Given the description of an element on the screen output the (x, y) to click on. 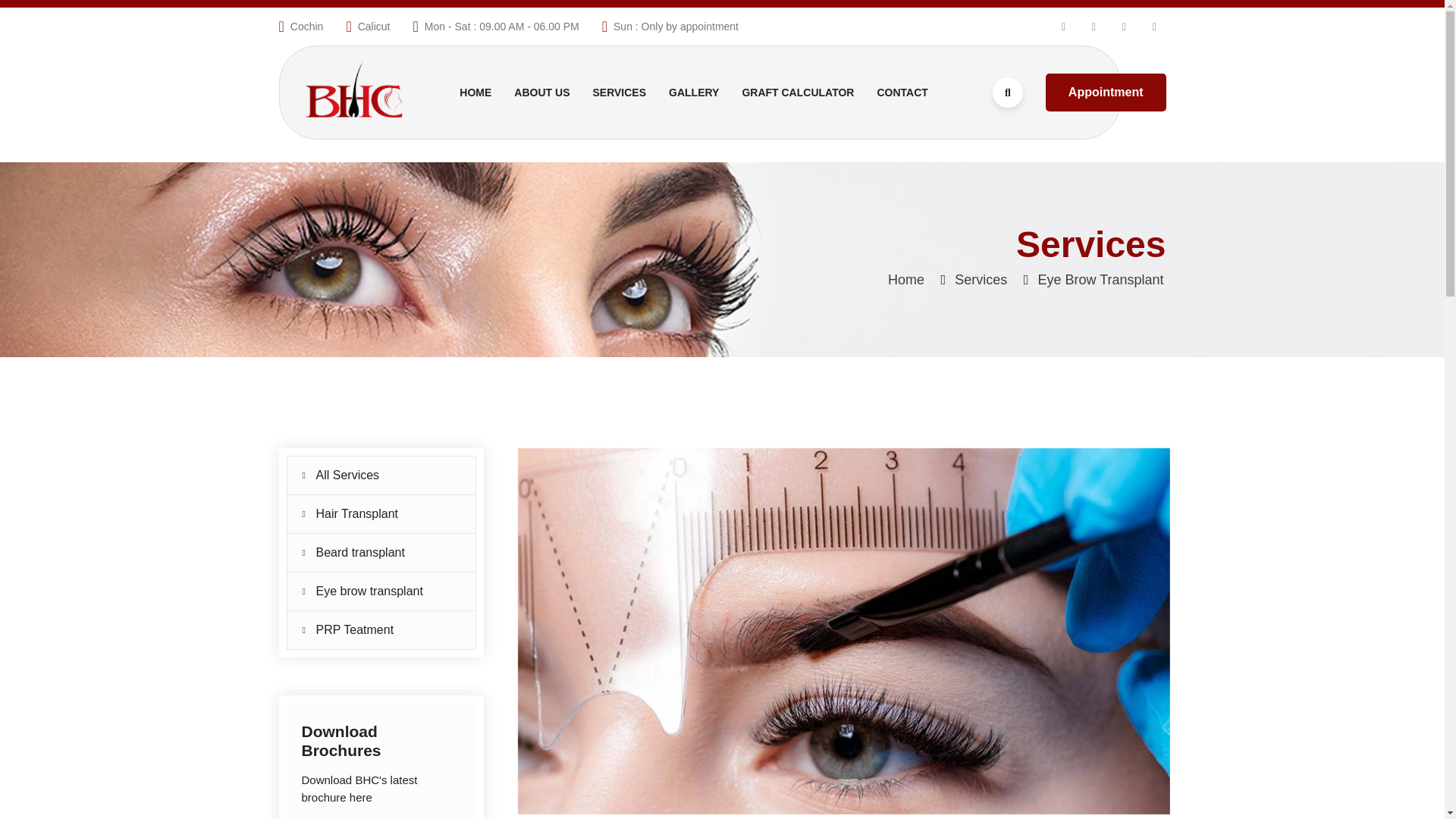
HOME (476, 92)
GALLERY (693, 92)
Appointment (1105, 92)
GRAFT CALCULATOR (797, 92)
SERVICES (619, 92)
ABOUT US (541, 92)
CONTACT (901, 92)
